Given the description of an element on the screen output the (x, y) to click on. 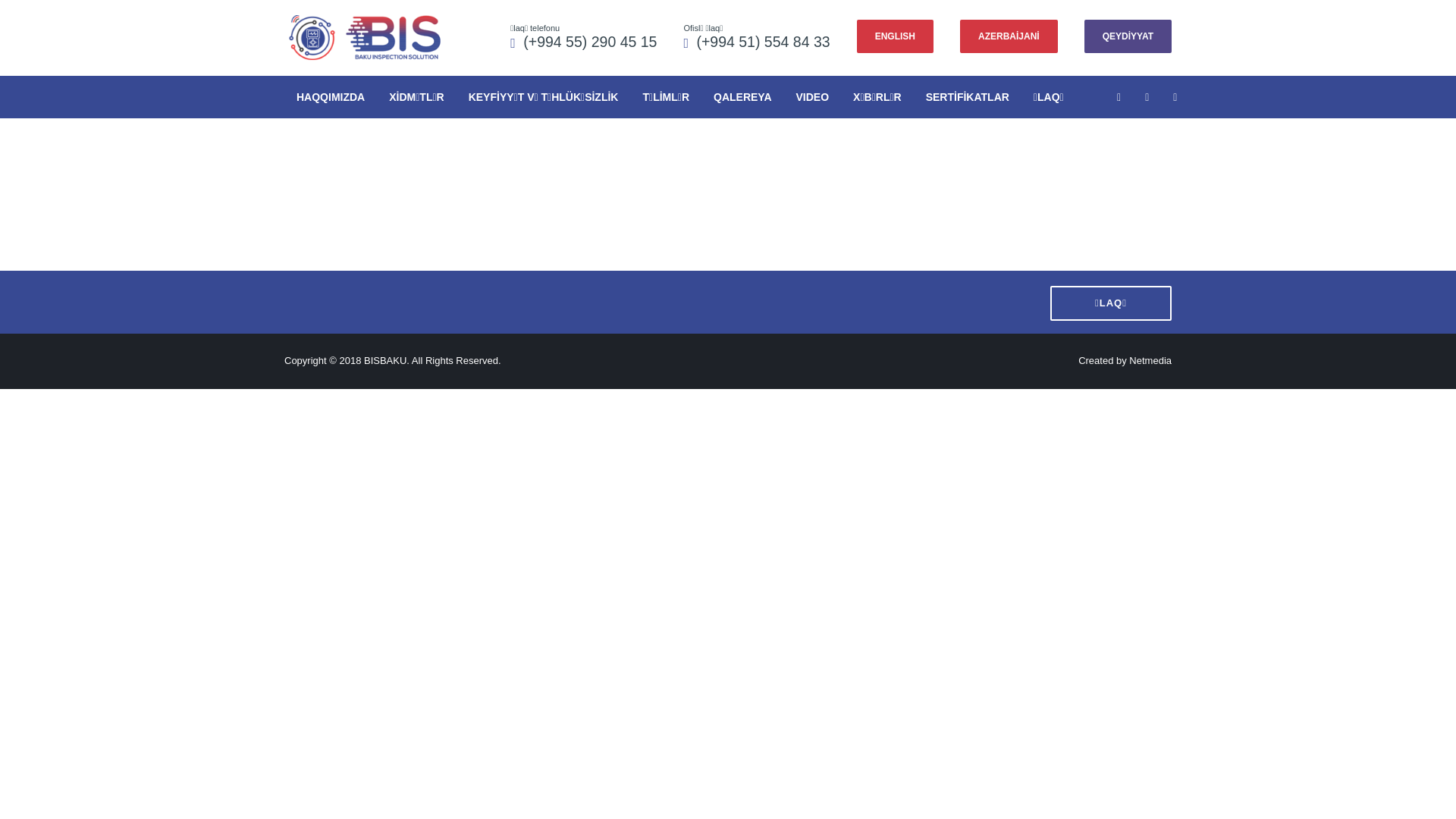
HAQQIMIZDA Element type: text (330, 96)
(+994 51) 554 84 33 Element type: text (762, 41)
VIDEO Element type: text (812, 96)
QALEREYA Element type: text (742, 96)
(+994 55) 290 45 15 Element type: text (589, 41)
Netmedia Element type: text (1150, 360)
ENGLISH Element type: text (894, 36)
